Given the description of an element on the screen output the (x, y) to click on. 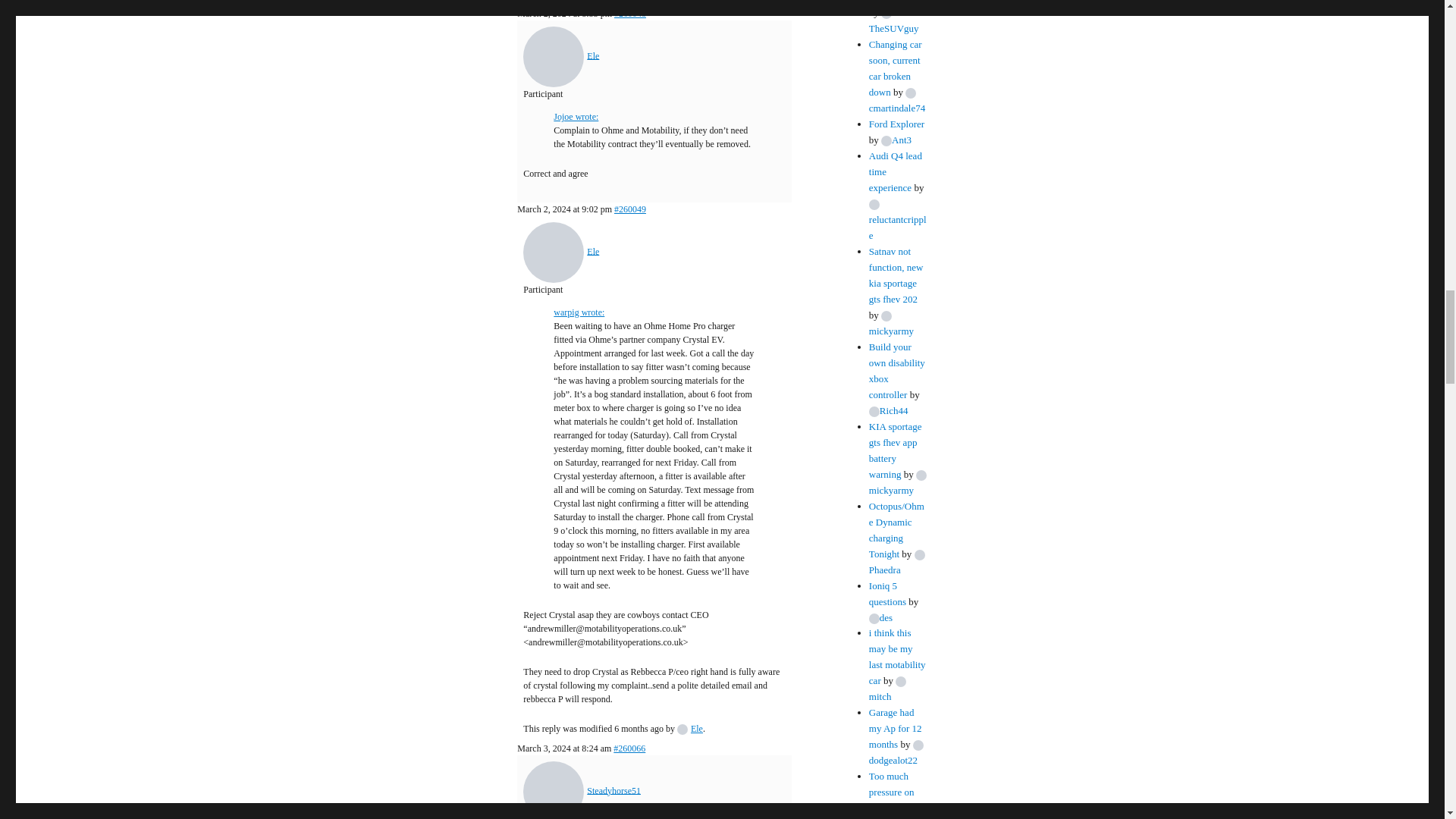
View Steadyhorse51's profile (581, 789)
Ele (560, 250)
View Ele's profile (560, 54)
View Ele's profile (560, 250)
Jojoe wrote: (575, 116)
View Ele's profile (690, 728)
Ele (560, 54)
Steadyhorse51 (581, 789)
Ele (690, 728)
warpig wrote: (578, 312)
